Given the description of an element on the screen output the (x, y) to click on. 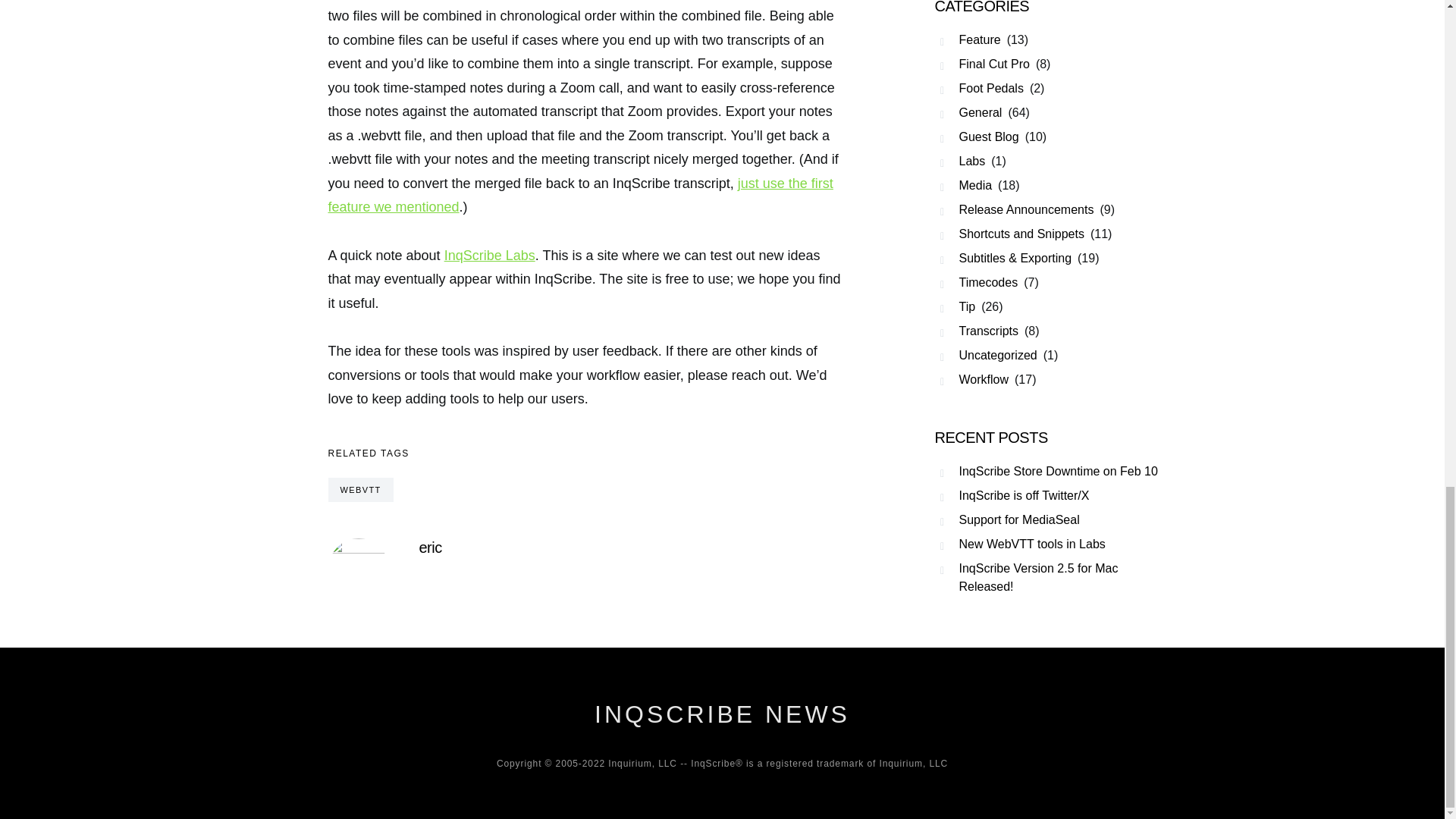
WEBVTT (360, 489)
just use the first feature we mentioned (579, 195)
eric (430, 547)
InqScribe Labs (489, 255)
